Given the description of an element on the screen output the (x, y) to click on. 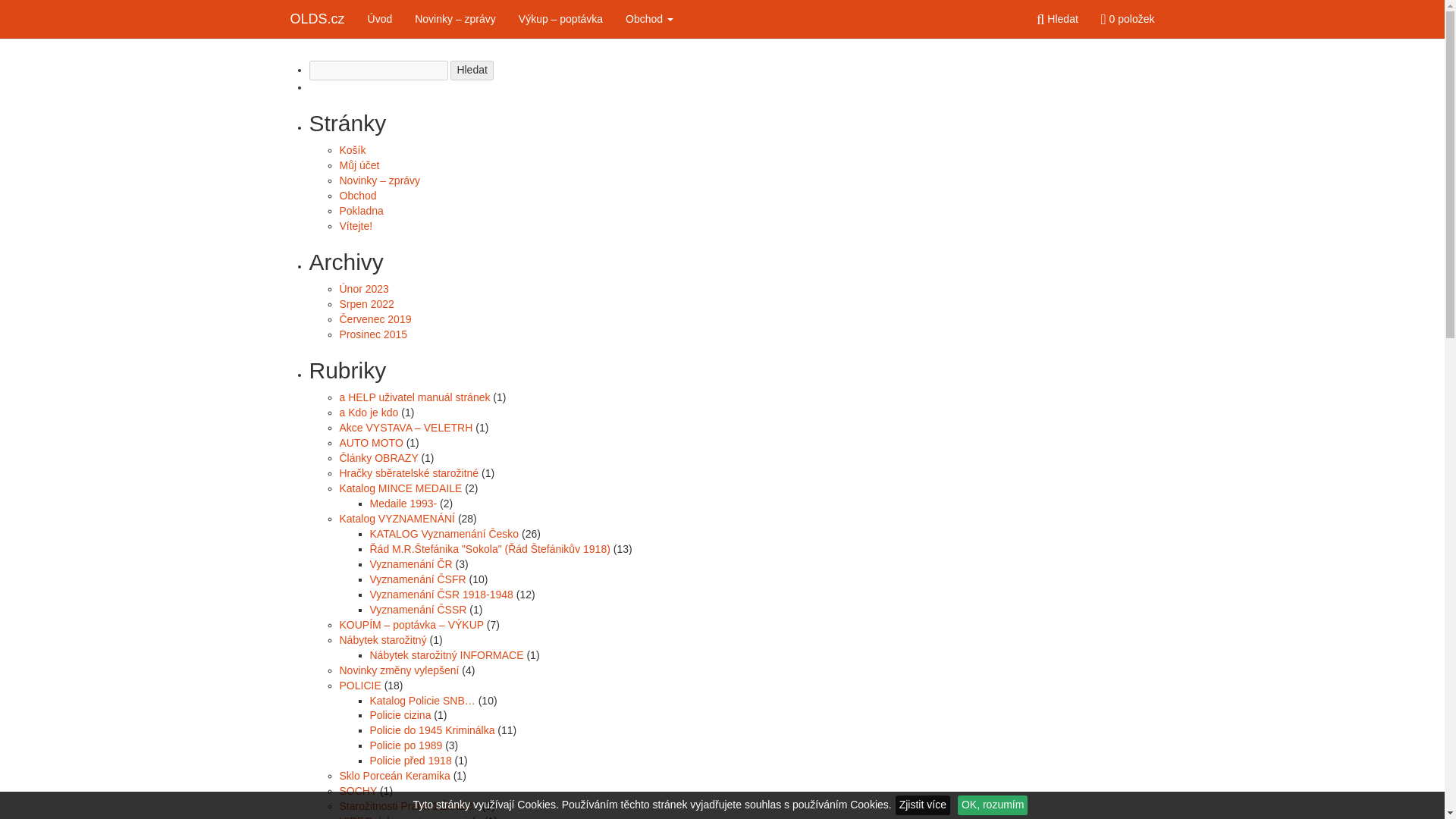
Obchod (358, 195)
Pokladna (361, 210)
Obchod (649, 18)
Srpen 2022 (366, 304)
Hledat (1057, 18)
AUTO MOTO (371, 442)
a Kdo je kdo (368, 412)
Hledat (471, 70)
Medaile 1993- (403, 503)
Hledat (471, 70)
Katalog MINCE MEDAILE (401, 488)
Prosinec 2015 (373, 334)
OLDS.cz (317, 18)
Obchod (649, 18)
